Given the description of an element on the screen output the (x, y) to click on. 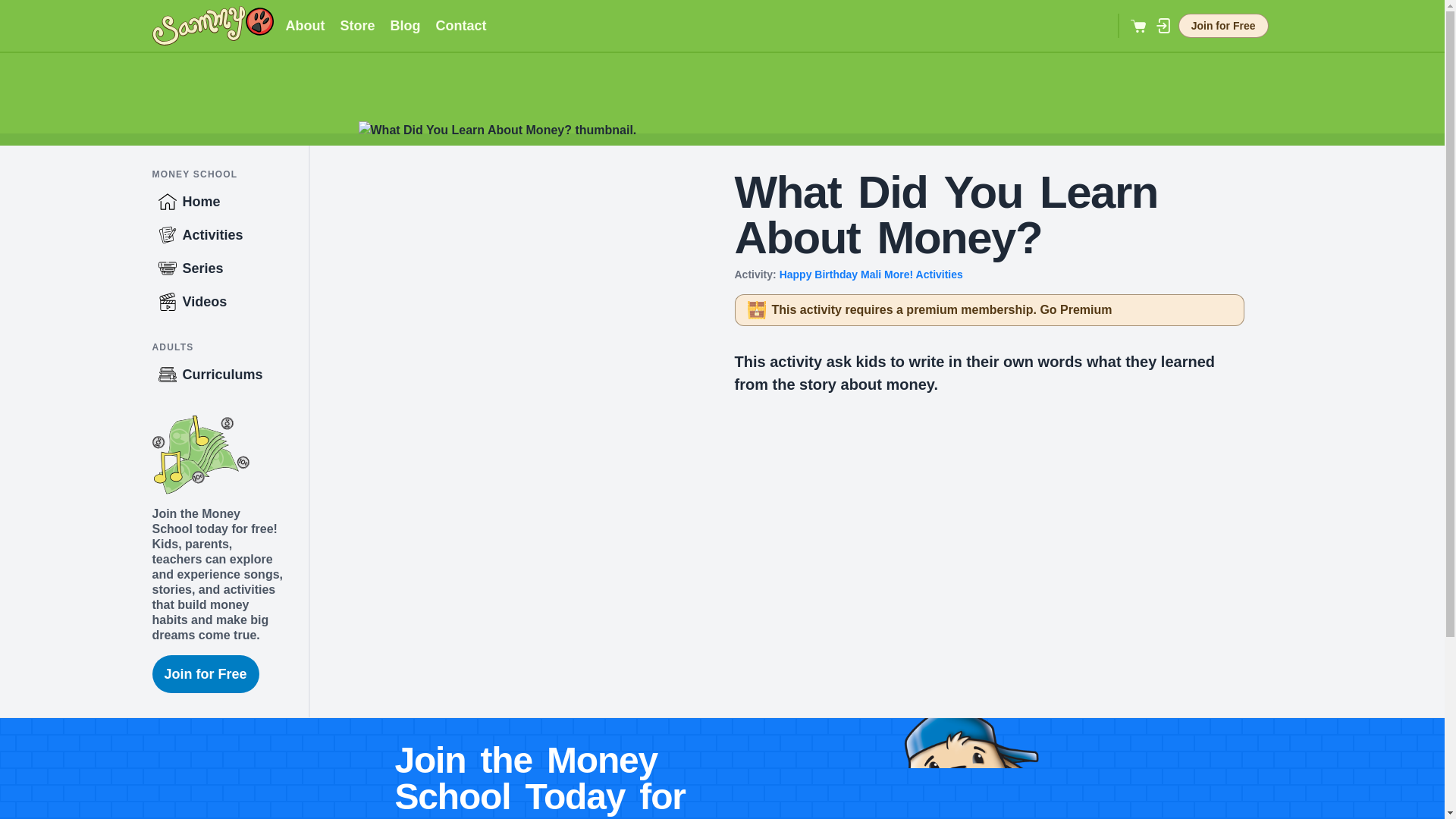
Activities (229, 234)
Series (229, 268)
Go Premium (1075, 309)
About (304, 25)
Contact (460, 25)
Store (356, 25)
Join for Free (205, 673)
Videos (229, 301)
Curriculums (229, 374)
View Cart (1138, 25)
Home (229, 201)
Happy Birthday Mali More! Activities (870, 274)
Blog (405, 25)
Join for Free (1222, 25)
Login (1163, 25)
